Given the description of an element on the screen output the (x, y) to click on. 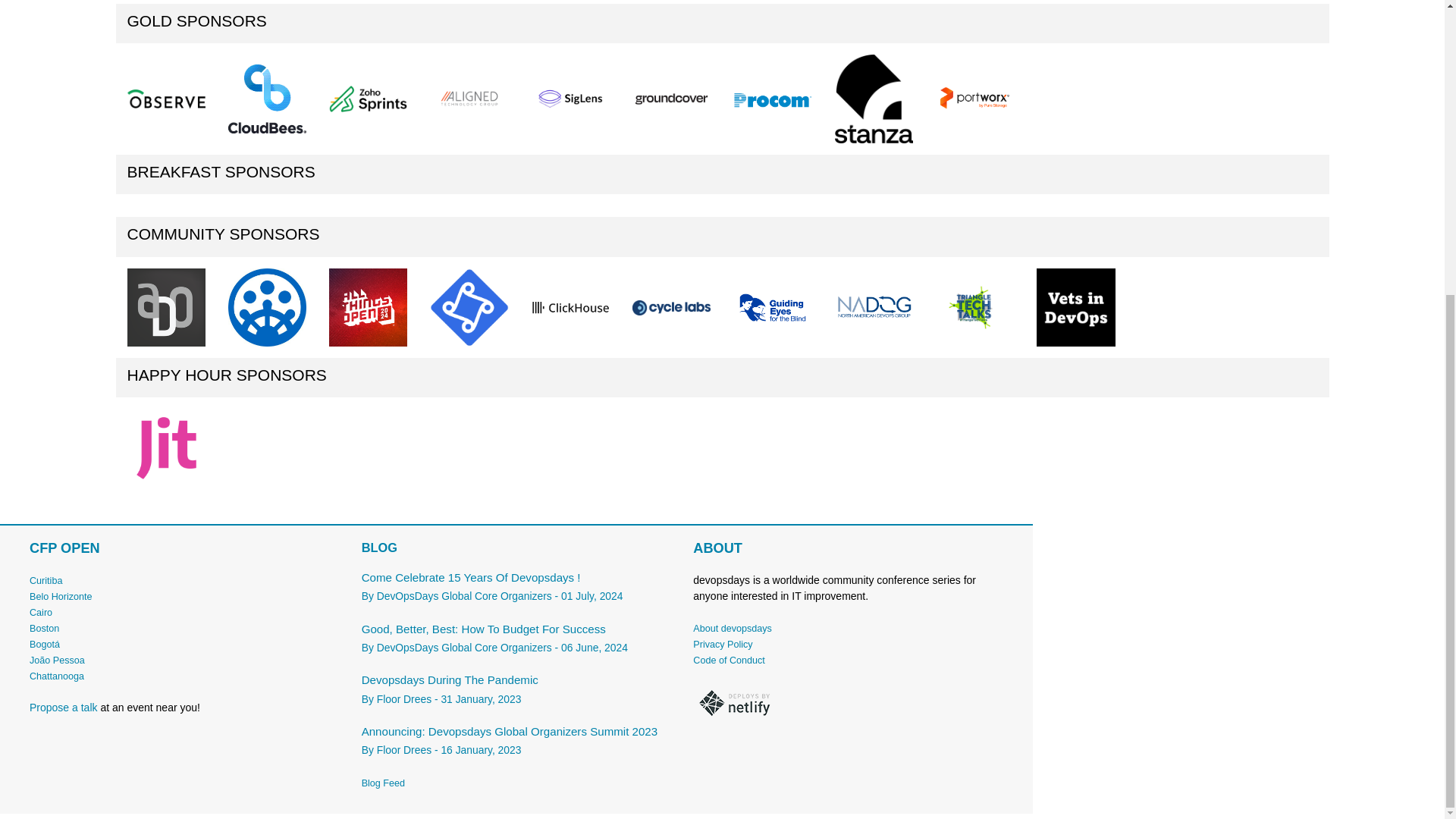
Curitiba (45, 580)
LearnK8s (468, 307)
kubehuddle (266, 307)
Arrested DevOps (166, 307)
zohosprints (368, 98)
Groundcover (670, 98)
Observe Inc (166, 98)
North American DevOps Group (873, 306)
siglens (570, 98)
Guiding Eyes For The Blind (771, 307)
cloudbees (266, 98)
triangle-tech-talks (974, 307)
Cycle Labs (670, 307)
portworx (974, 99)
Aligned Technology Group (468, 98)
